Given the description of an element on the screen output the (x, y) to click on. 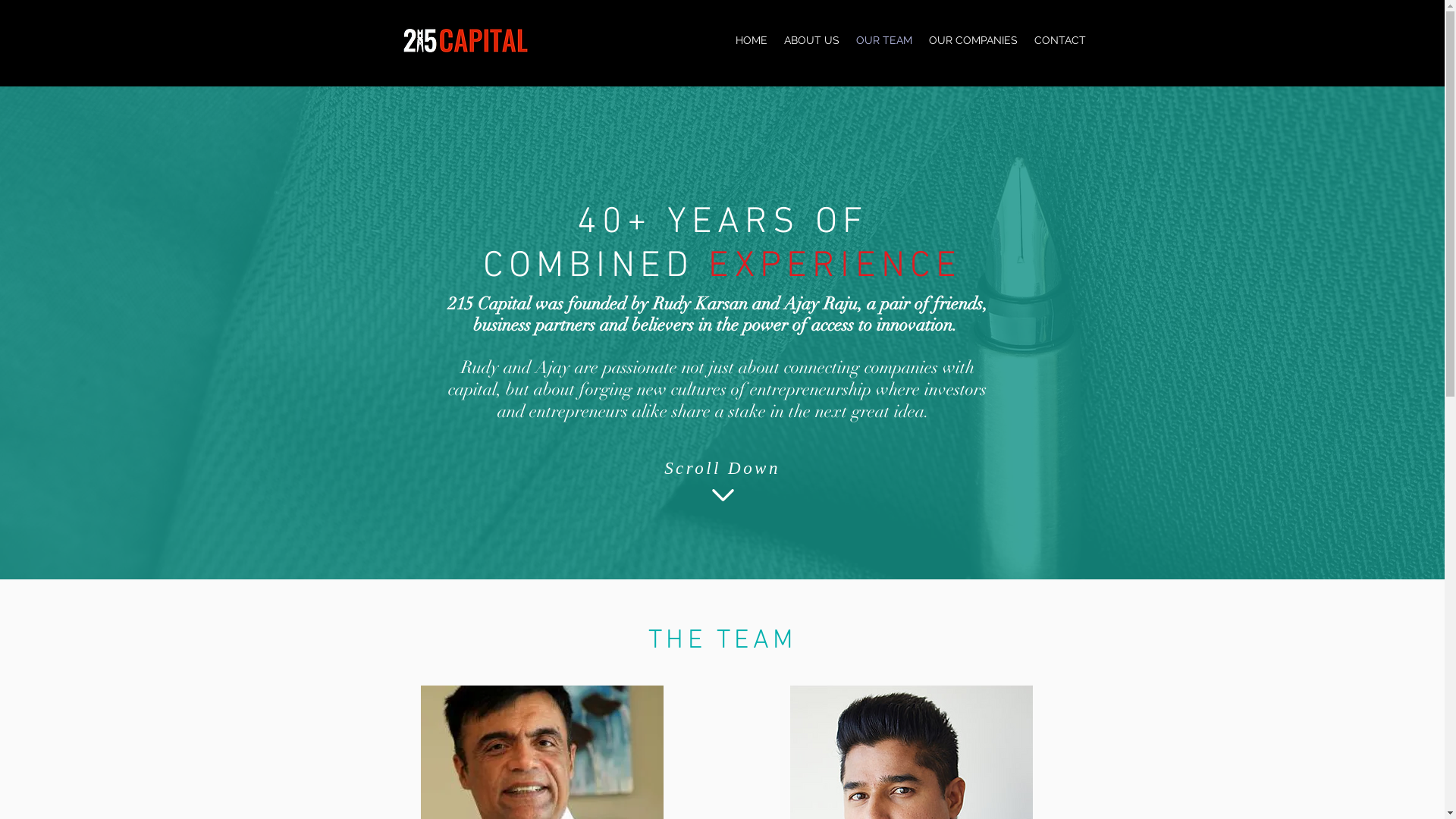
HOME Element type: text (750, 39)
  Element type: text (937, 58)
OUR COMPANIES Element type: text (973, 39)
OUR TEAM Element type: text (883, 39)
CONTACT Element type: text (1059, 39)
215 Element type: text (925, 58)
Capital | Philadelphia Element type: text (1011, 58)
ABOUT US Element type: text (811, 39)
